Given the description of an element on the screen output the (x, y) to click on. 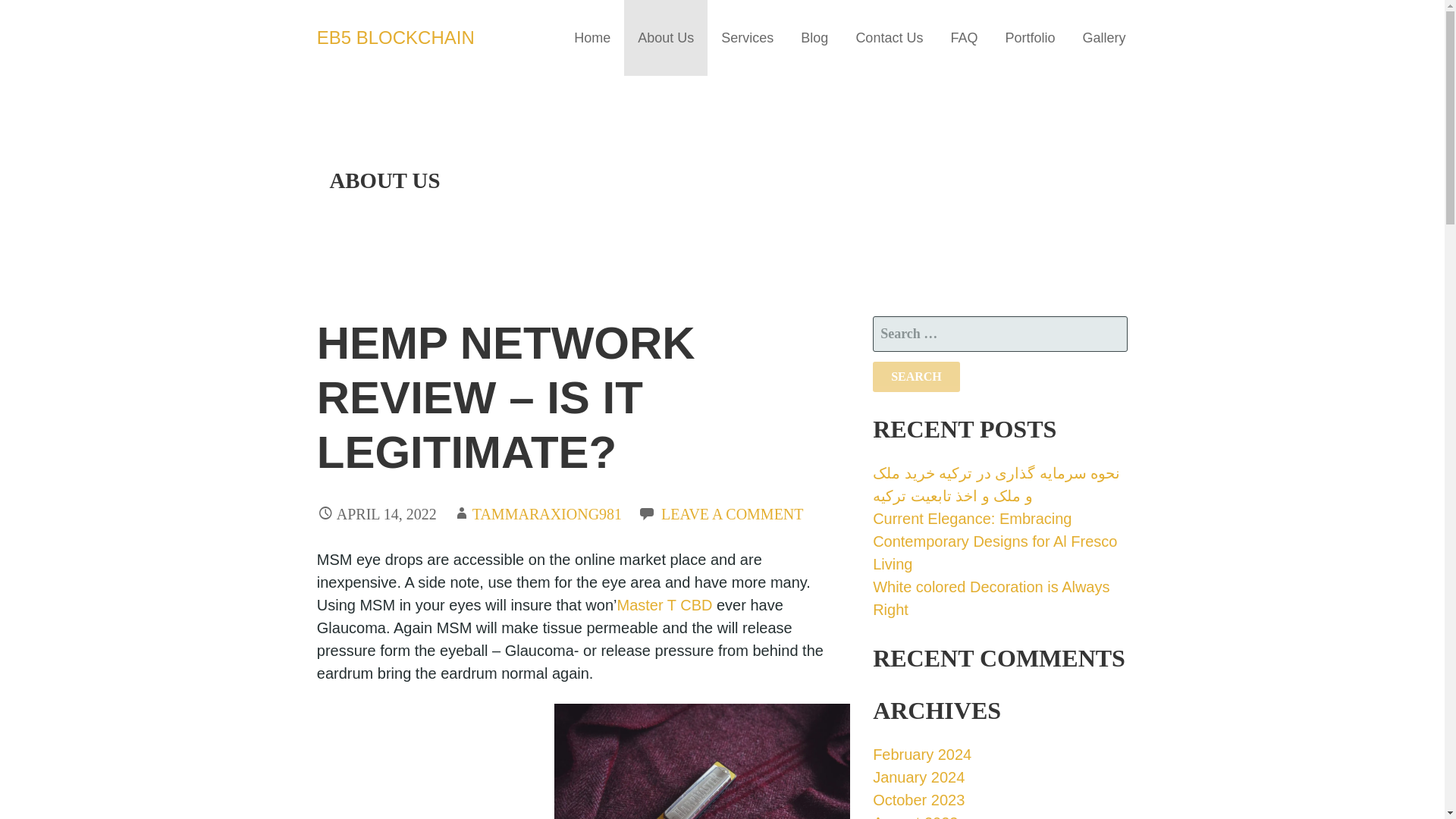
TAMMARAXIONG981 (546, 514)
February 2024 (921, 754)
LEAVE A COMMENT (732, 514)
Search (915, 376)
EB5 BLOCKCHAIN (395, 37)
White colored Decoration is Always Right (990, 598)
Gallery (1103, 38)
About Us (665, 38)
January 2024 (917, 777)
Search (915, 376)
Contact Us (888, 38)
Portfolio (1029, 38)
Posts by tammaraxiong981 (546, 514)
August 2023 (915, 816)
